Given the description of an element on the screen output the (x, y) to click on. 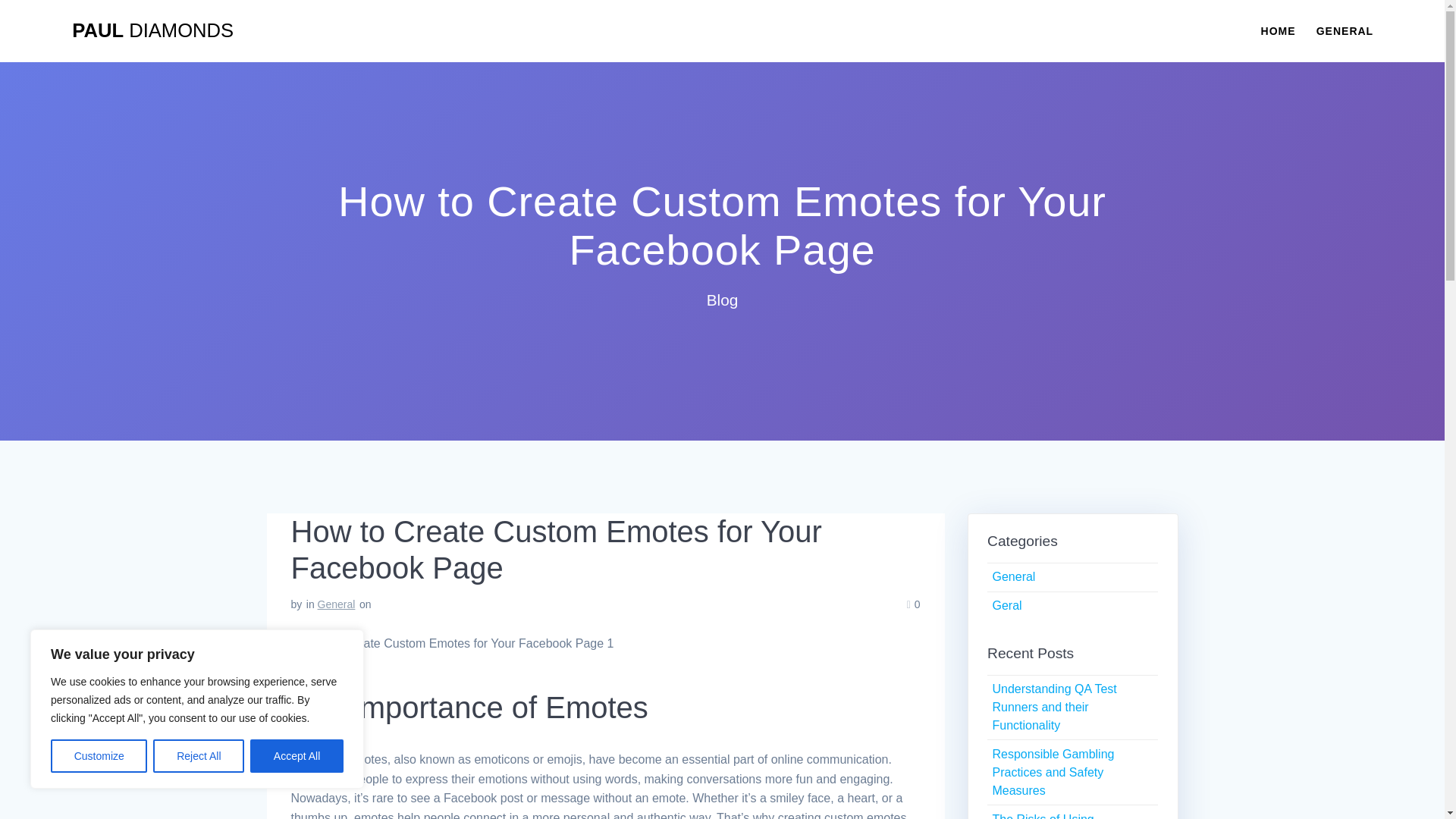
Accept All (296, 756)
Customize (98, 756)
The Risks of Using Unlicensed Gambling Platforms (1048, 816)
GENERAL (1344, 30)
Geral (1006, 604)
Responsible Gambling Practices and Safety Measures (1052, 771)
General (1013, 576)
HOME (1277, 30)
PAUL DIAMONDS (151, 30)
General (336, 604)
Reject All (198, 756)
Understanding QA Test Runners and their Functionality (1053, 707)
